Given the description of an element on the screen output the (x, y) to click on. 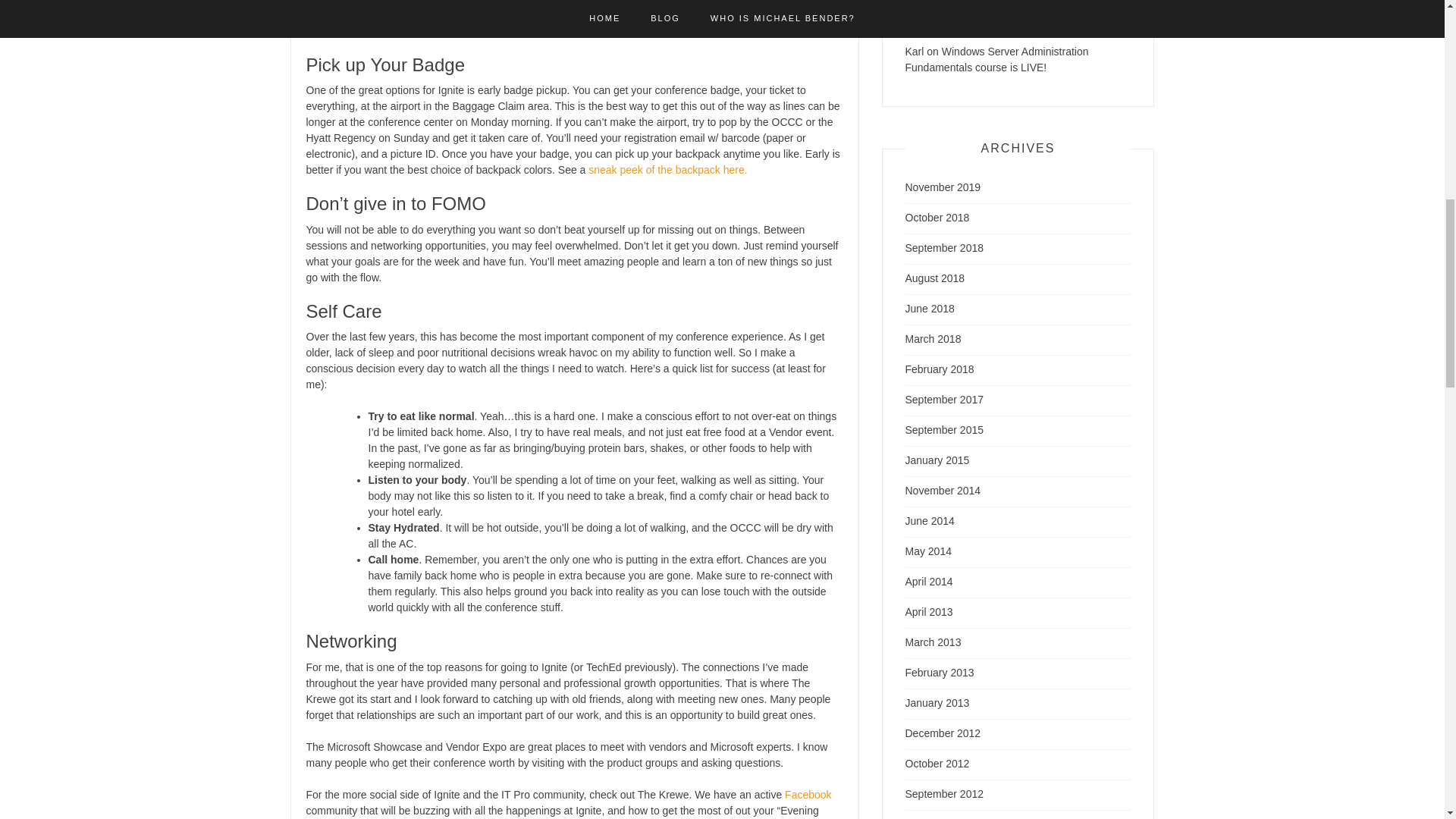
Facebook (807, 794)
Michael Bender (941, 5)
Karl (914, 51)
Windows Server Administration Fundamentals course is LIVE! (1010, 13)
MyIgnite portal (407, 30)
sneak peek of the backpack here.  (668, 169)
